Given the description of an element on the screen output the (x, y) to click on. 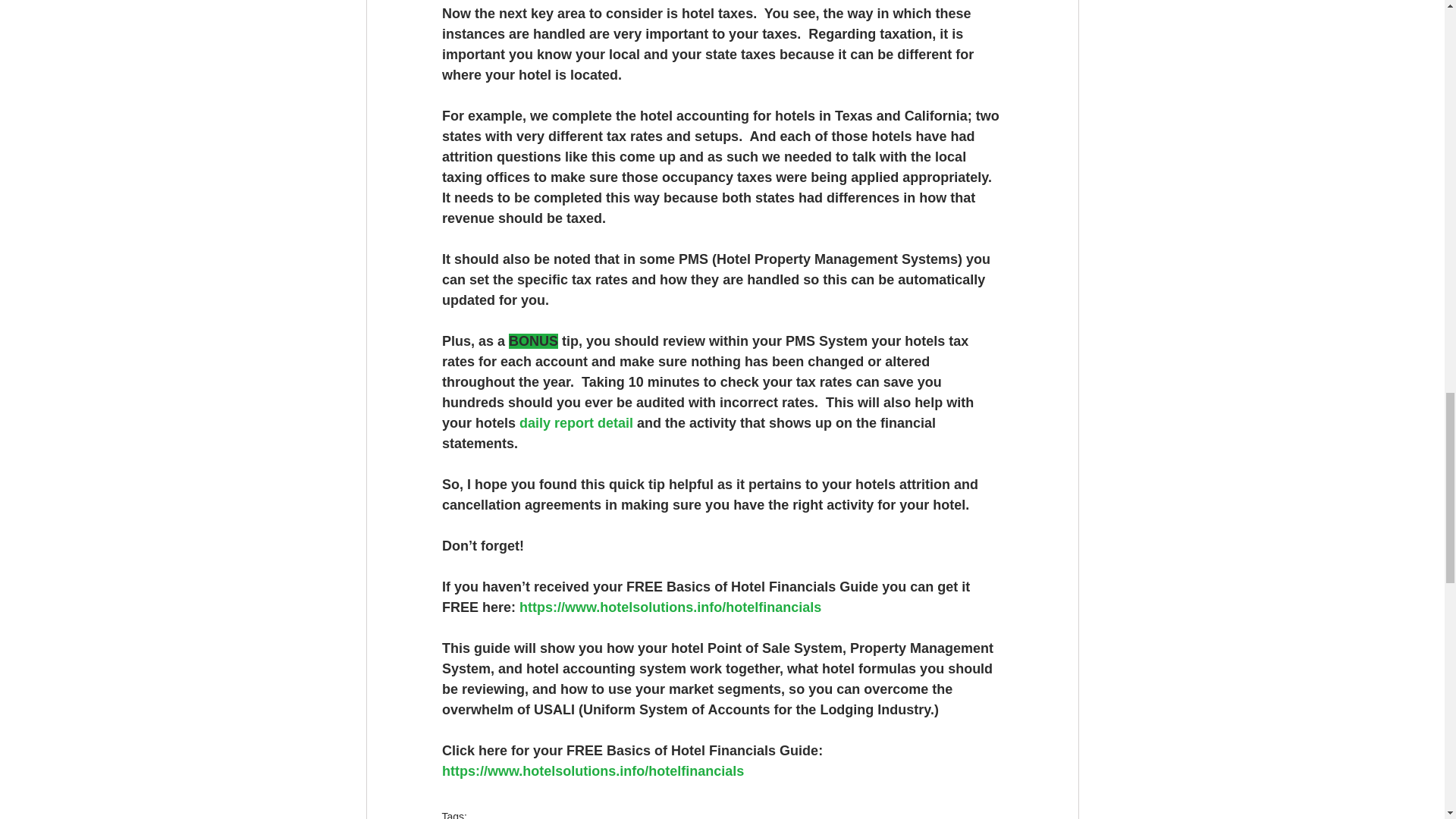
daily report detail (576, 422)
